Given the description of an element on the screen output the (x, y) to click on. 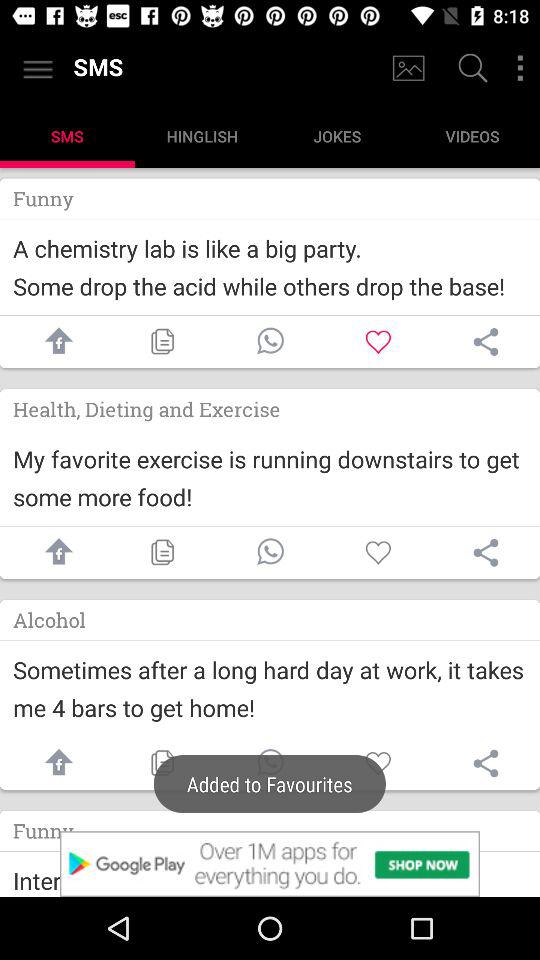
the button serves to like the image (378, 552)
